Given the description of an element on the screen output the (x, y) to click on. 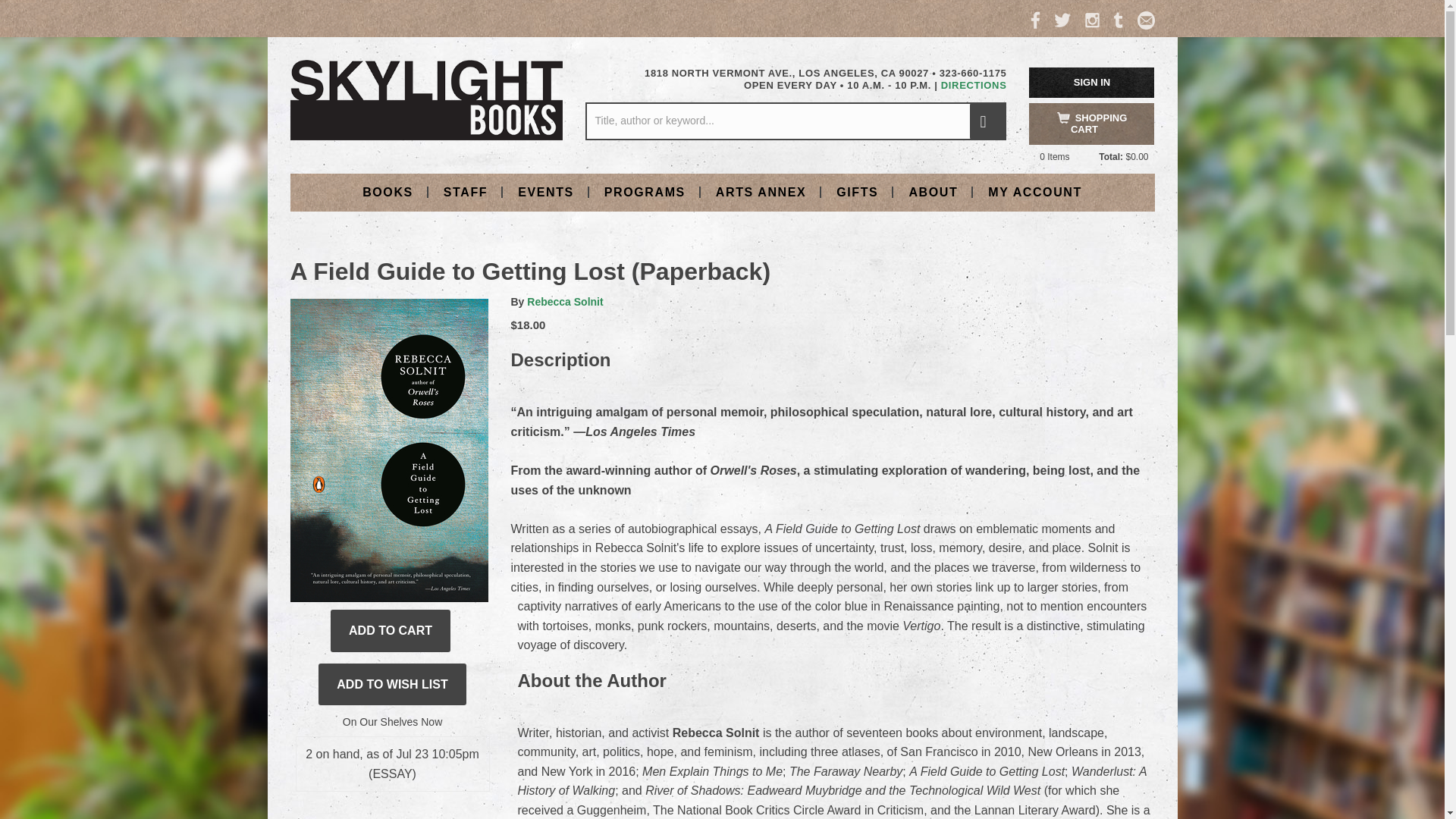
Add to Cart (389, 630)
ARTS ANNEX (760, 191)
DIRECTIONS (973, 84)
search (987, 121)
EVENTS (545, 191)
SHOPPING CART (1091, 123)
PROGRAMS (644, 191)
search (987, 121)
SIGN IN (1091, 81)
Home (425, 98)
GIFTS (857, 191)
Title, author or keyword... (795, 121)
BOOKS (387, 191)
STAFF (465, 191)
